Given the description of an element on the screen output the (x, y) to click on. 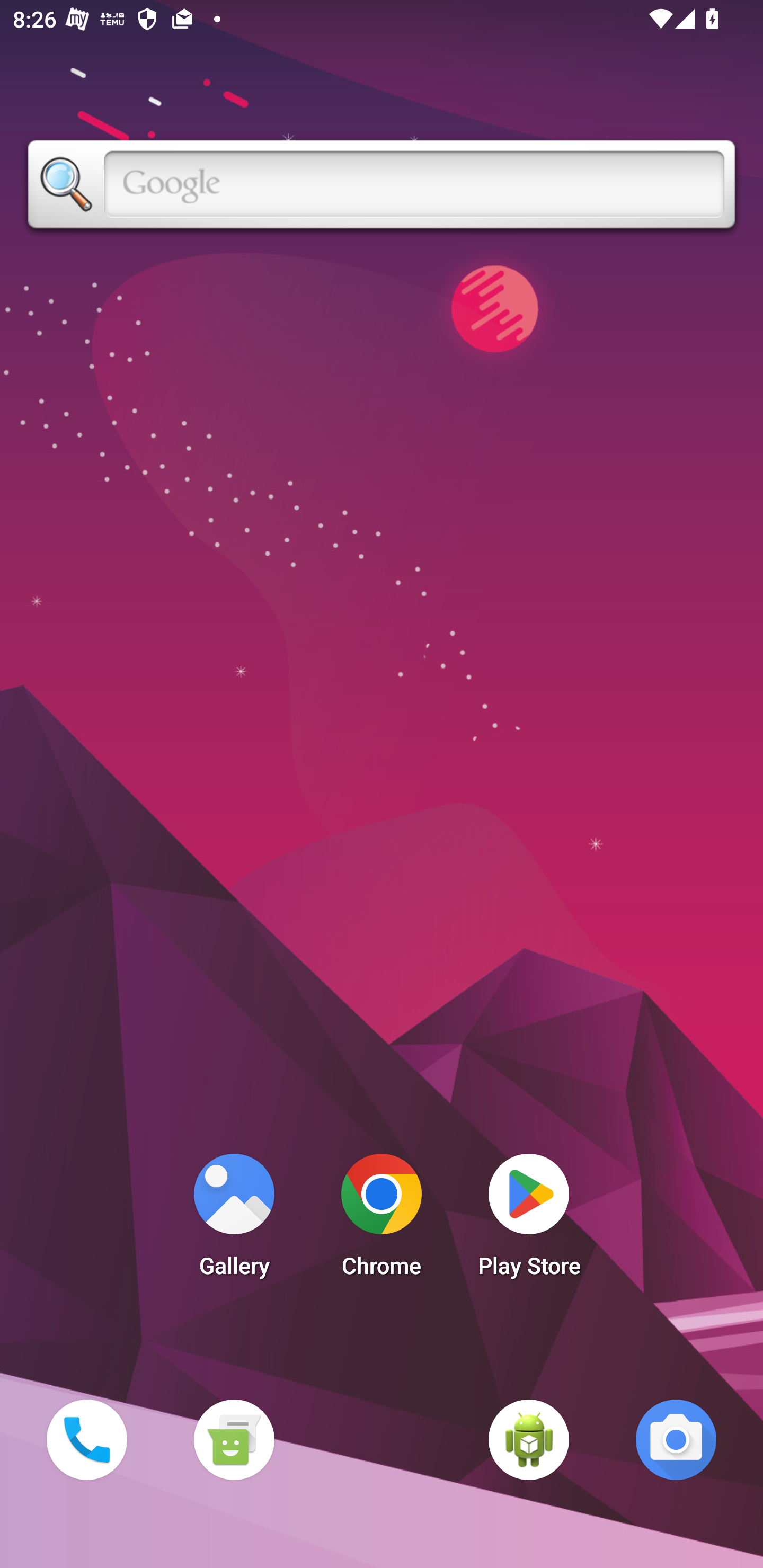
Gallery (233, 1220)
Chrome (381, 1220)
Play Store (528, 1220)
Phone (86, 1439)
Messaging (233, 1439)
WebView Browser Tester (528, 1439)
Camera (676, 1439)
